Given the description of an element on the screen output the (x, y) to click on. 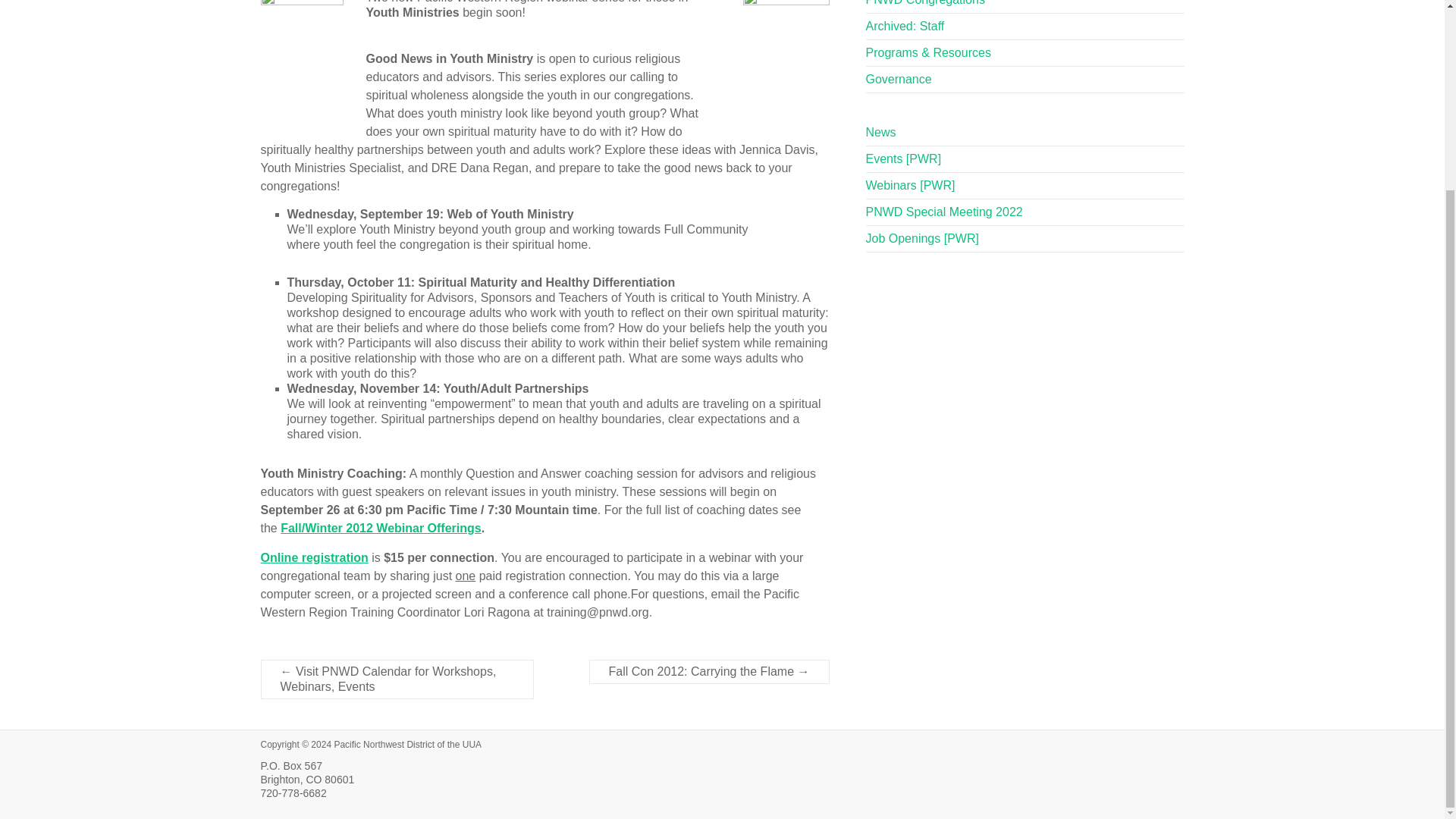
News (881, 132)
PNWD Congregations (925, 2)
Archived: Staff (905, 25)
Online registration (314, 557)
Pacific Northwest District of the UUA (407, 744)
Governance (898, 78)
